Given the description of an element on the screen output the (x, y) to click on. 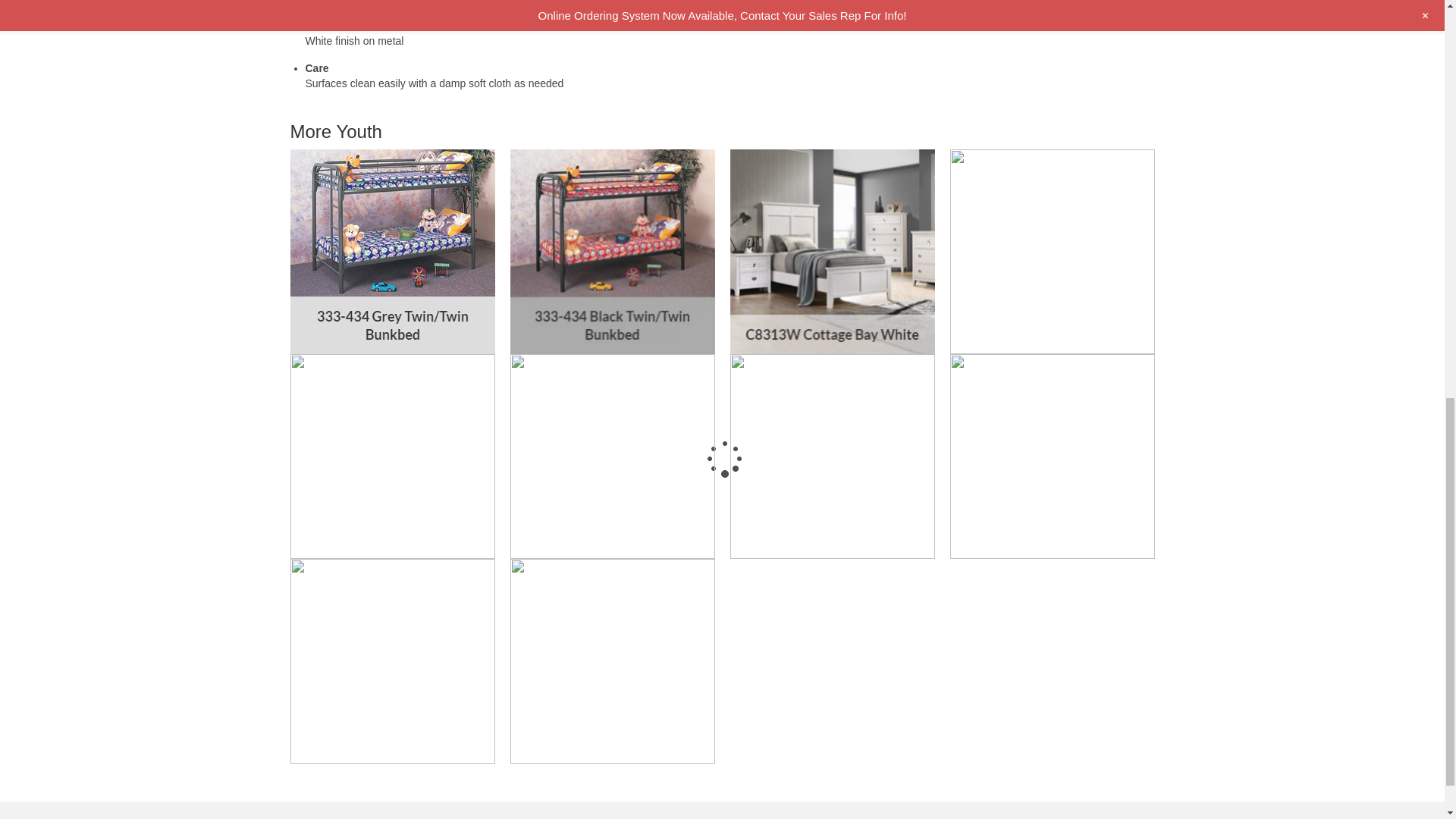
209 A-Frame Bunk Grey (611, 455)
C8313W Cottage Bay White (831, 251)
C4937 Martini Cherry Louis Philippe Bedroom (1051, 251)
634 Twin Chestnut Captains Bed (392, 455)
